Given the description of an element on the screen output the (x, y) to click on. 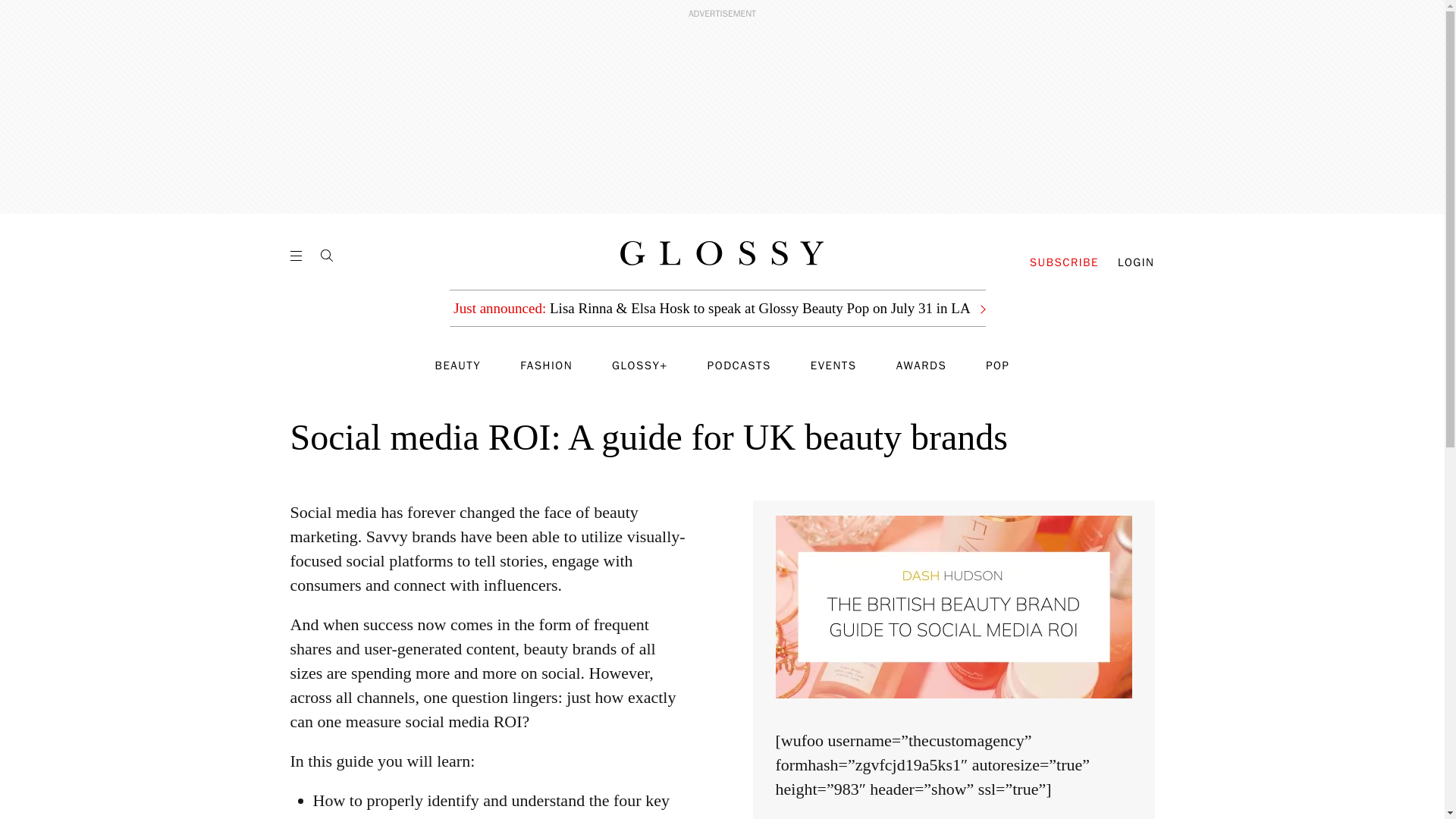
FASHION (545, 365)
POP (997, 365)
LOGIN (1136, 262)
BEAUTY (458, 365)
AWARDS (921, 365)
SUBSCRIBE (1064, 262)
PODCASTS (739, 365)
EVENTS (833, 365)
